Given the description of an element on the screen output the (x, y) to click on. 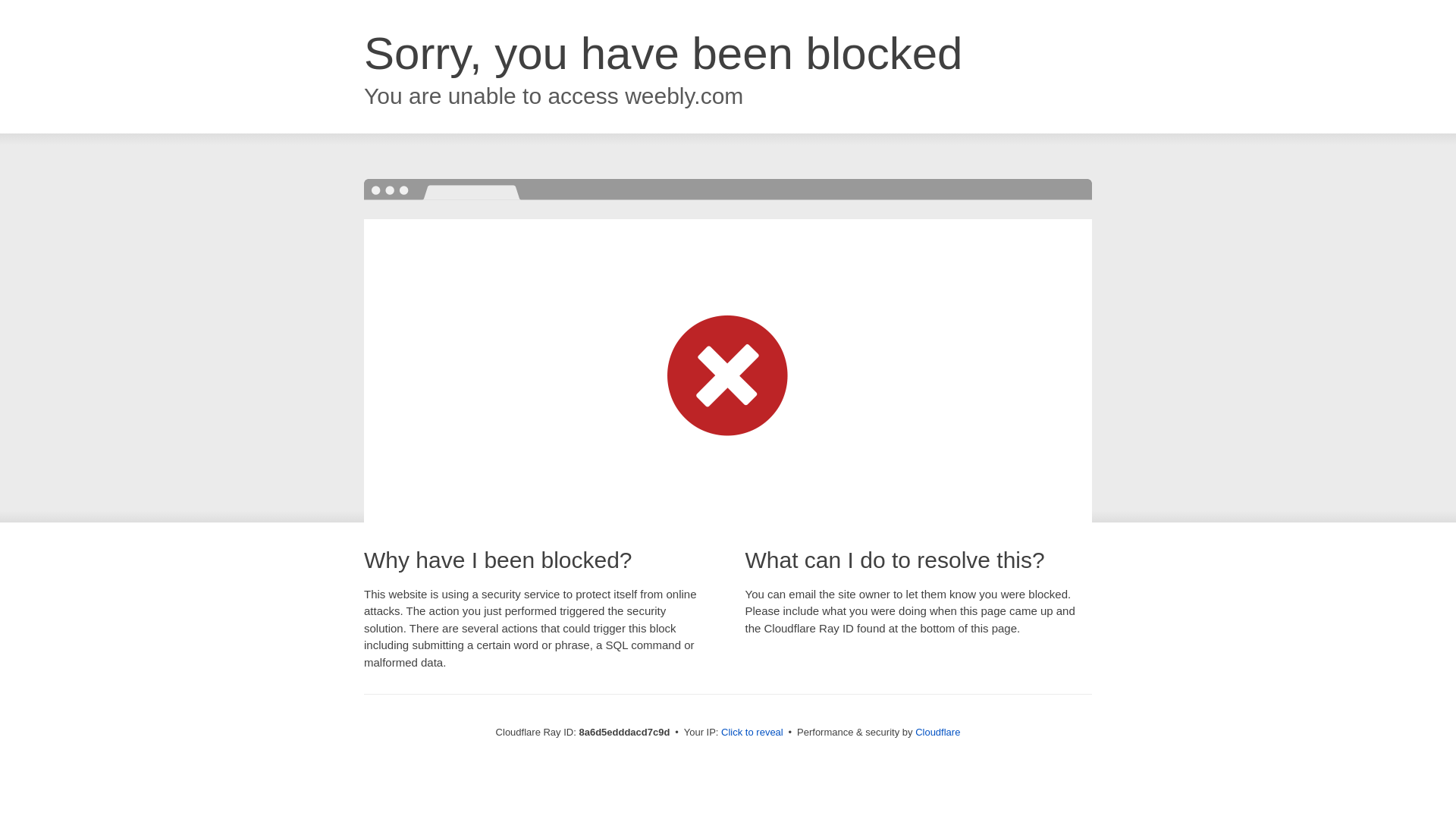
Click to reveal (751, 732)
Cloudflare (937, 731)
